Given the description of an element on the screen output the (x, y) to click on. 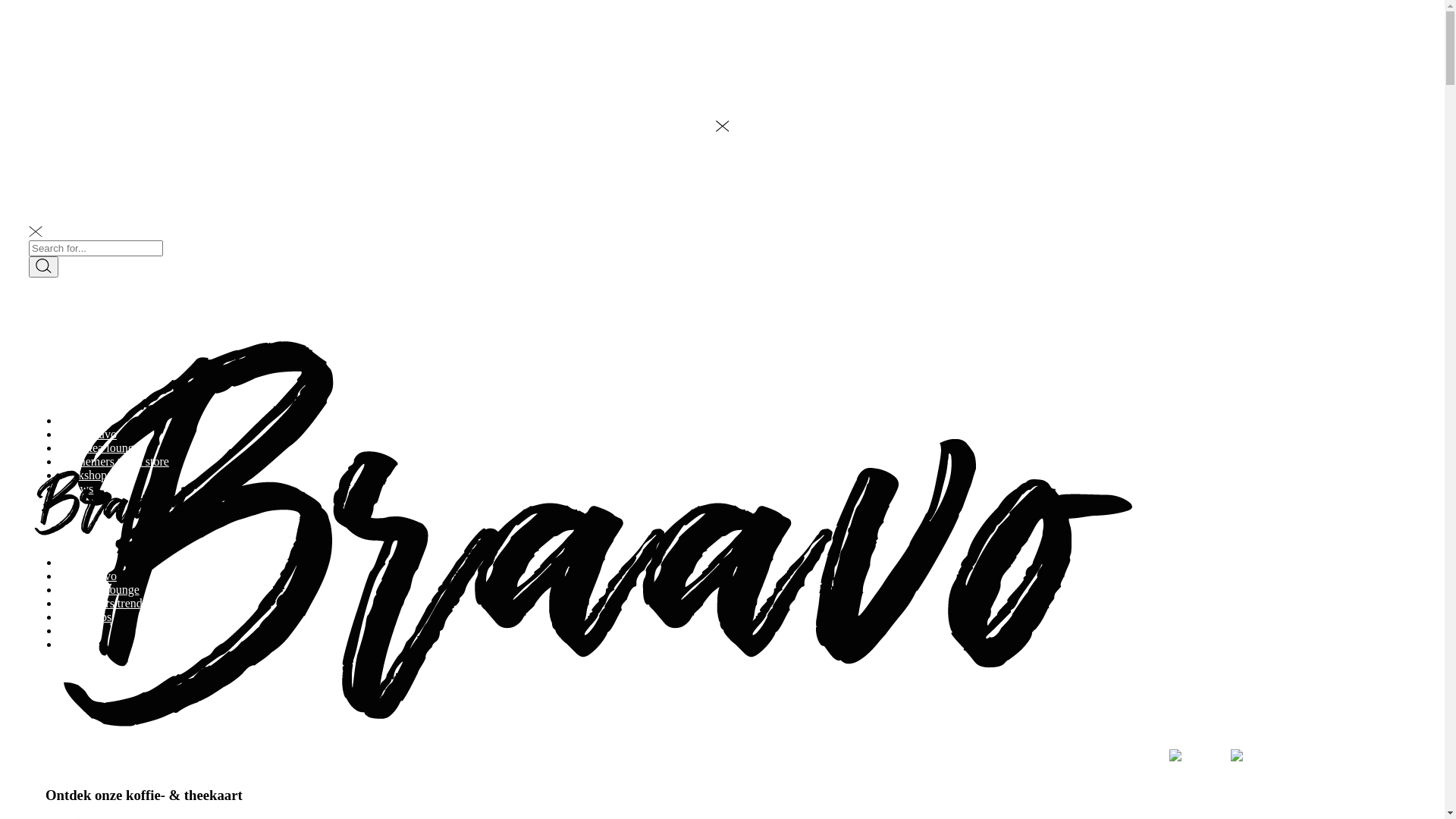
workshops Element type: text (85, 474)
menu tea lounge Element type: text (99, 589)
deelnemers trend store Element type: text (114, 461)
deelnemers trend store Element type: text (114, 602)
nieuws Element type: text (76, 630)
contact Element type: text (76, 643)
home Element type: text (72, 420)
nieuws Element type: text (76, 488)
workshops Element type: text (85, 616)
over braavo Element type: text (87, 575)
contact Element type: text (76, 501)
home Element type: text (72, 561)
menu tea lounge Element type: text (99, 447)
over braavo Element type: text (87, 433)
